Given the description of an element on the screen output the (x, y) to click on. 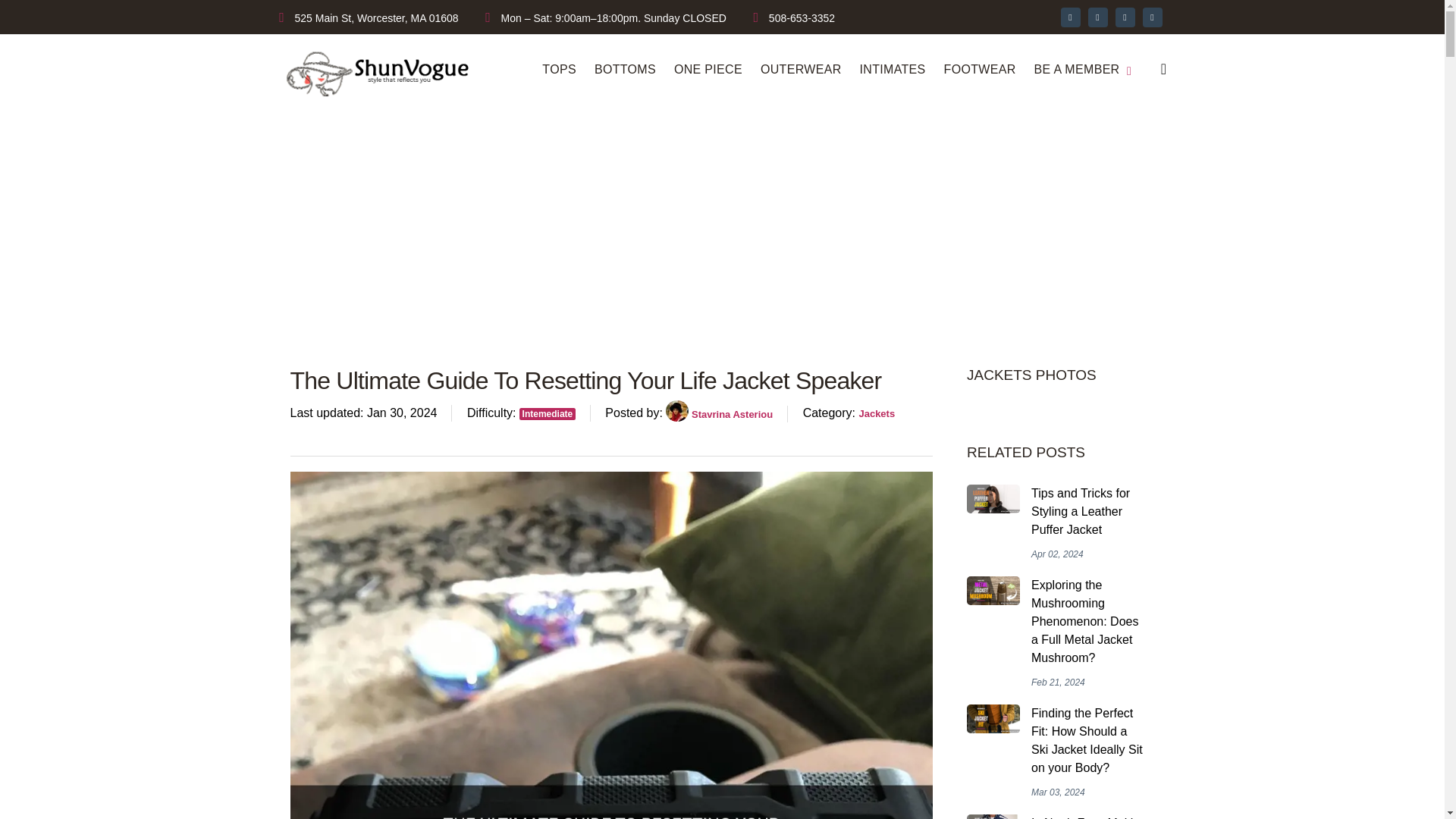
OUTERWEAR (800, 69)
TOPS (558, 69)
Jackets (877, 413)
FOOTWEAR (979, 69)
508-653-3352 (801, 18)
ONE PIECE (708, 69)
Stavrina Asteriou (719, 414)
BOTTOMS (625, 69)
INTIMATES (893, 69)
